Given the description of an element on the screen output the (x, y) to click on. 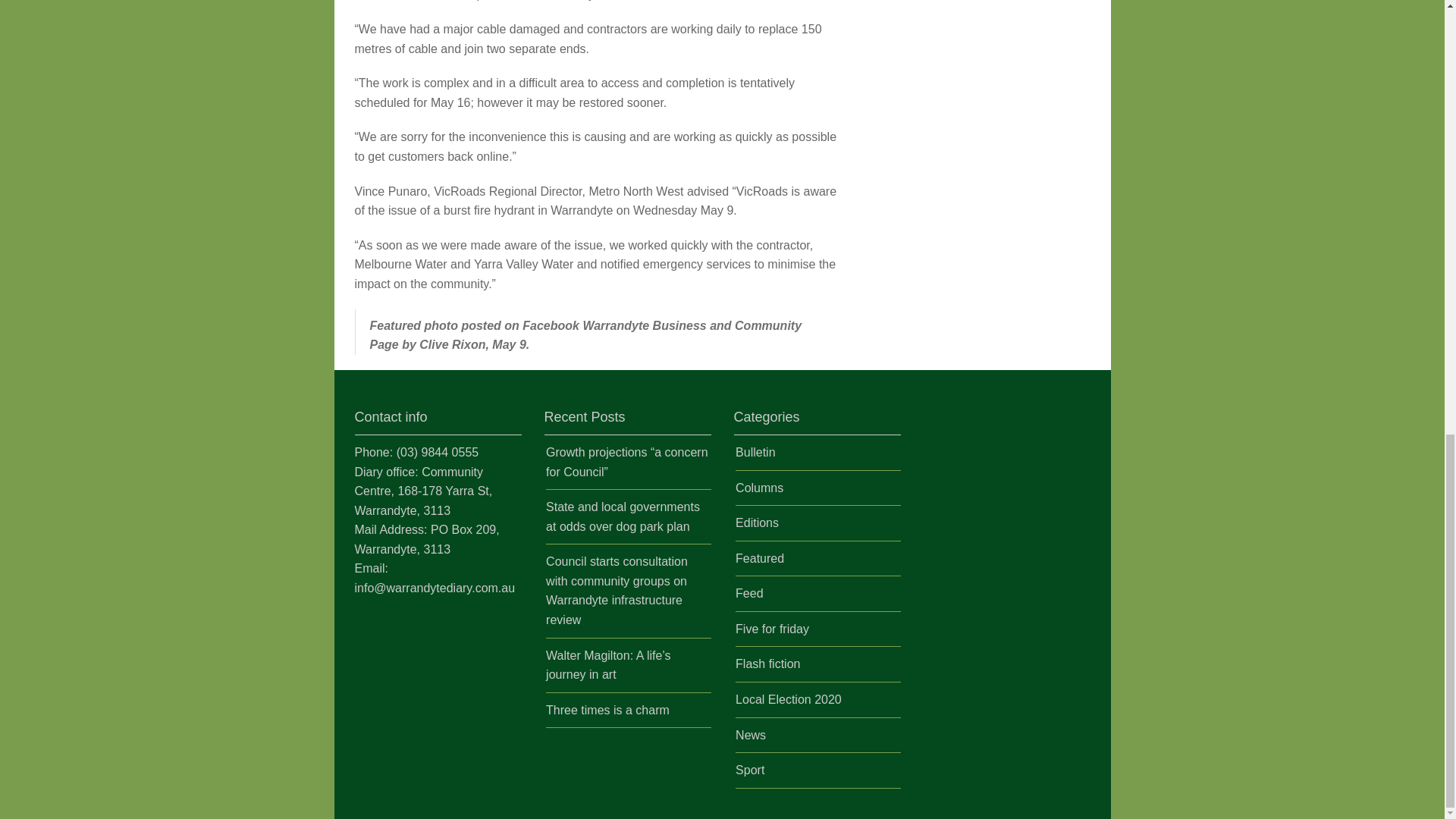
Bulletin (754, 451)
News (750, 735)
Flash fiction (767, 663)
Local Election 2020 (788, 698)
Editions (756, 522)
Feed (748, 593)
Three times is a charm (607, 709)
Featured (759, 558)
State and local governments at odds over dog park plan (623, 516)
Five for friday (772, 628)
Columns (759, 487)
